Given the description of an element on the screen output the (x, y) to click on. 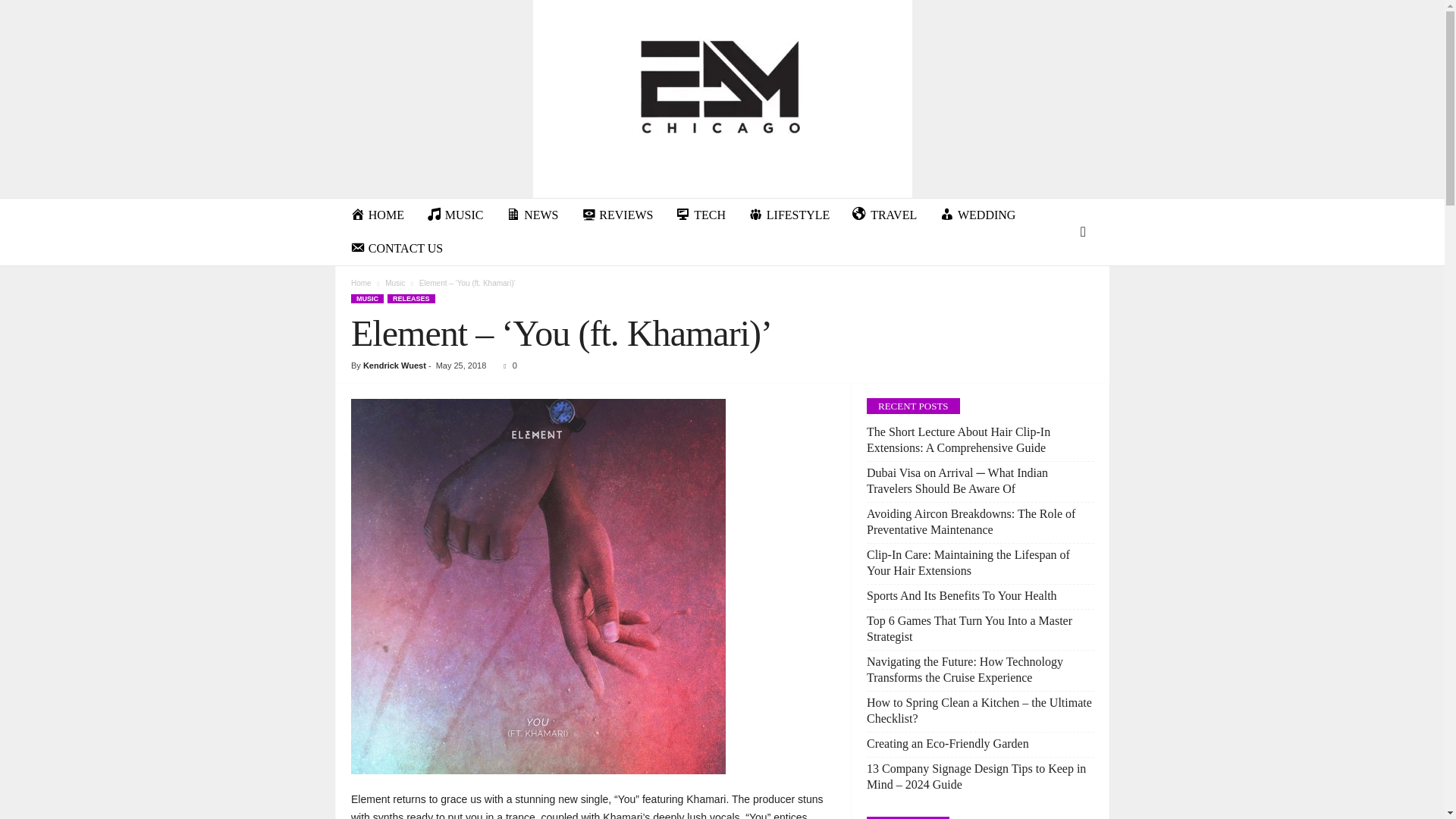
Home (360, 283)
REVIEWS (617, 215)
WEDDING (977, 215)
CONTACT US (396, 248)
LIFESTYLE (788, 215)
View all posts in Music (394, 283)
Kendrick Wuest (394, 365)
TECH (699, 215)
TRAVEL (884, 215)
